Given the description of an element on the screen output the (x, y) to click on. 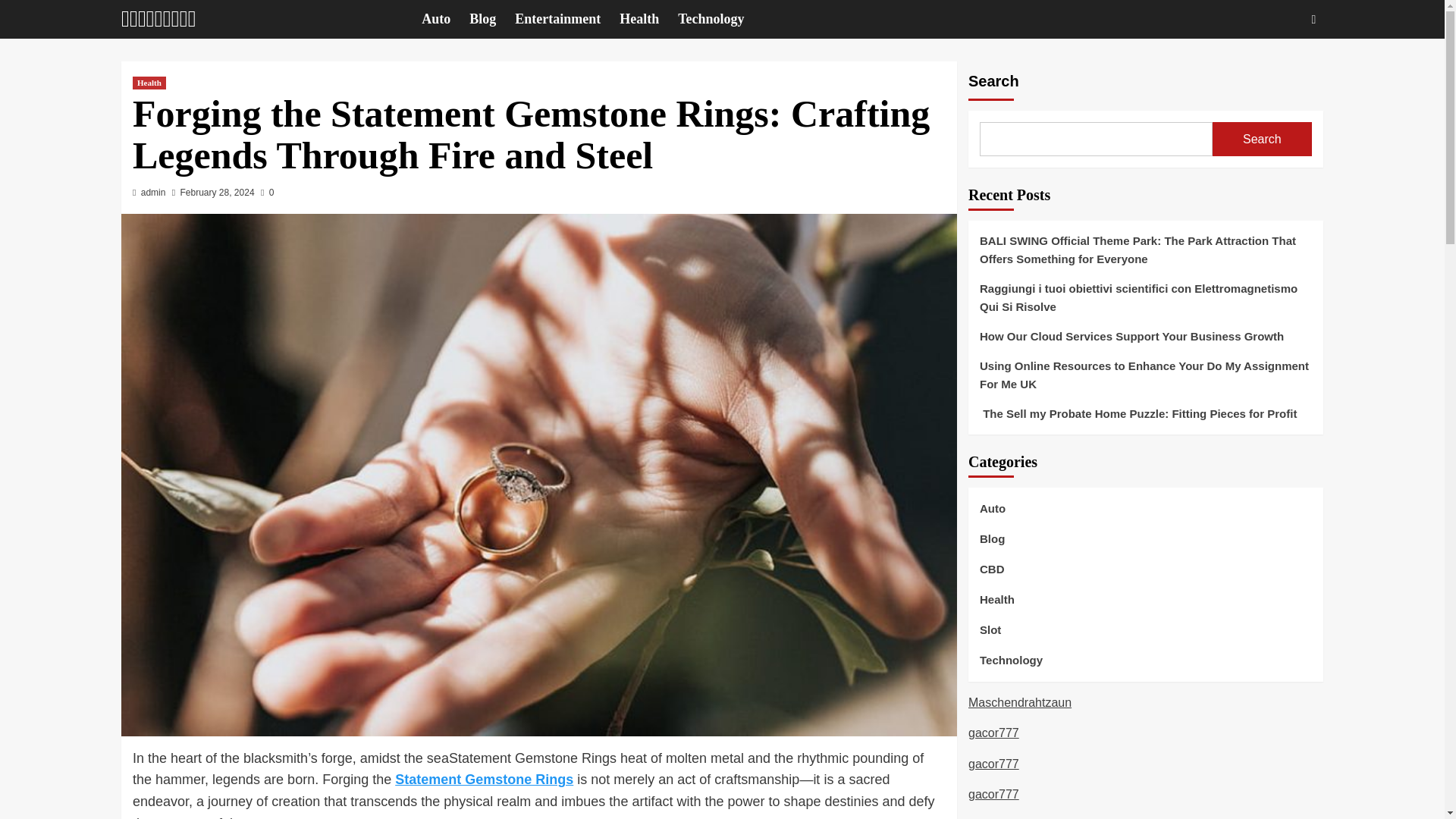
Auto (445, 19)
0 (266, 192)
Blog (491, 19)
February 28, 2024 (217, 192)
Technology (720, 19)
Statement Gemstone Rings (483, 779)
Health (649, 19)
Entertainment (567, 19)
Search (1278, 65)
Search (1261, 139)
Health (148, 82)
admin (153, 192)
